Given the description of an element on the screen output the (x, y) to click on. 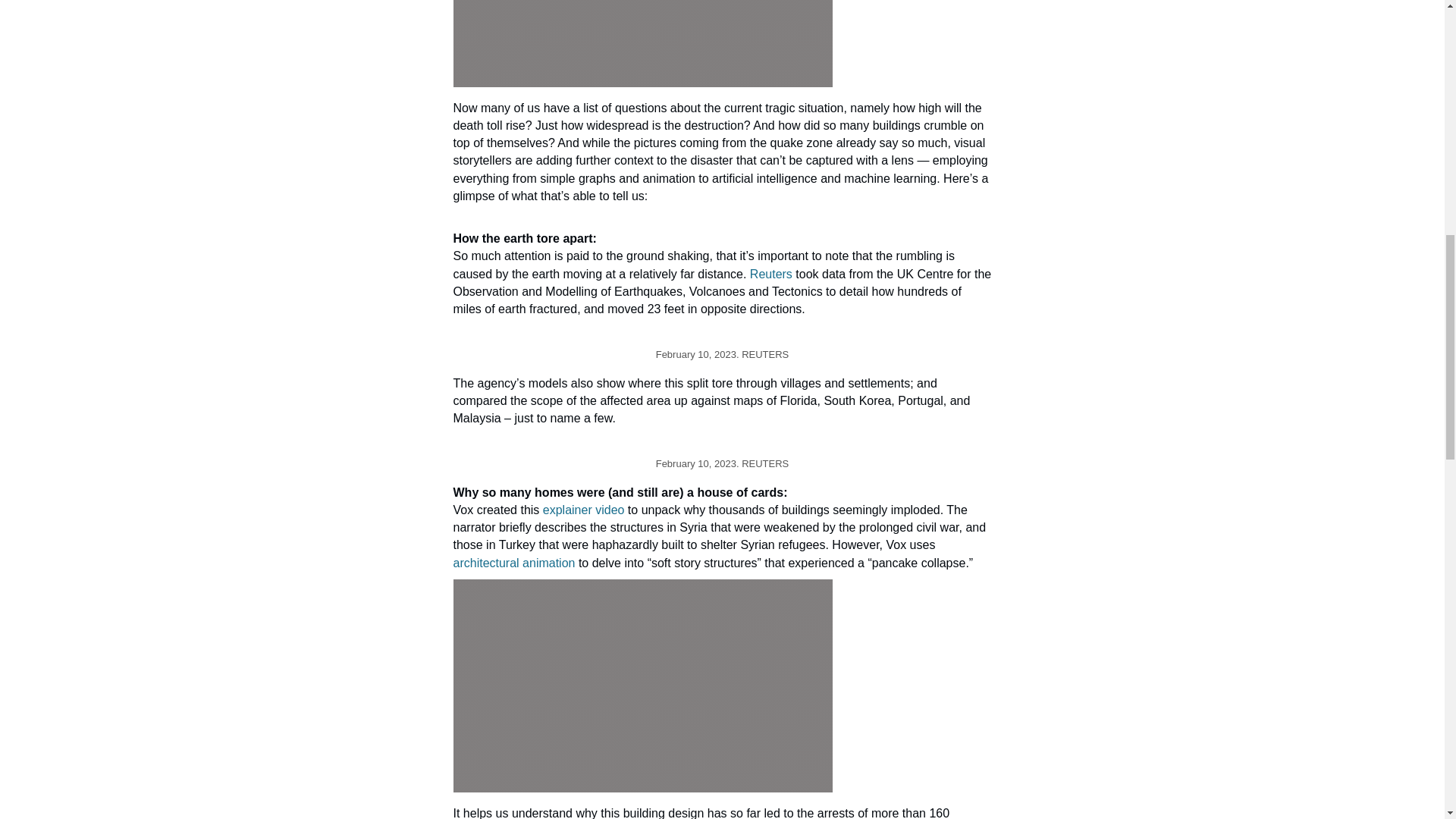
Reuters (770, 273)
explainer video (583, 509)
architectural animation (513, 562)
